Given the description of an element on the screen output the (x, y) to click on. 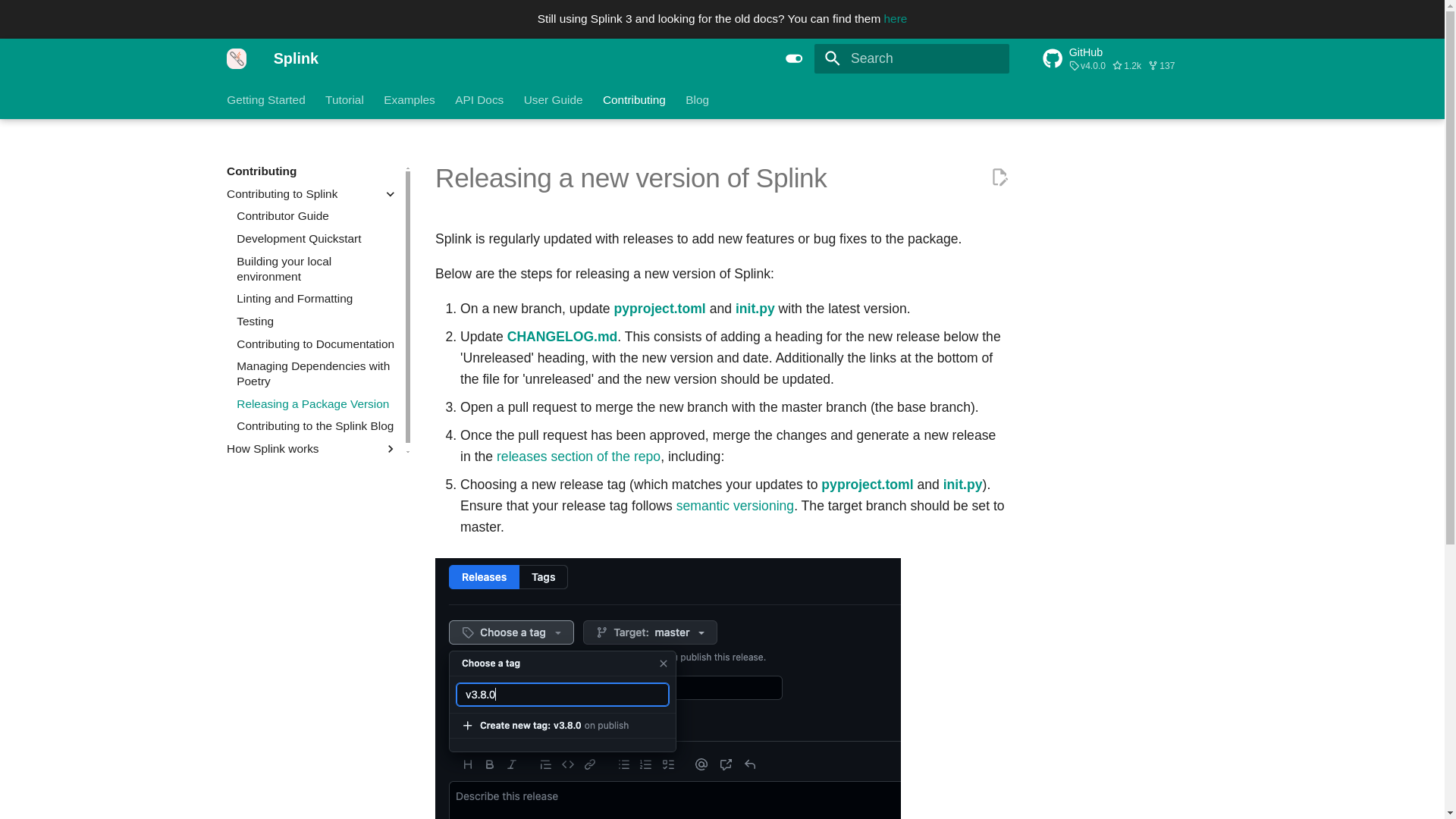
here (1129, 58)
Splink (895, 18)
Blog (236, 58)
Switch to dark mode (697, 99)
User Guide (793, 58)
Edit this page (553, 99)
Examples (999, 177)
Tutorial (409, 99)
Getting Started (344, 99)
API Docs (266, 99)
Go to repository (478, 99)
Contributing (1129, 58)
